Given the description of an element on the screen output the (x, y) to click on. 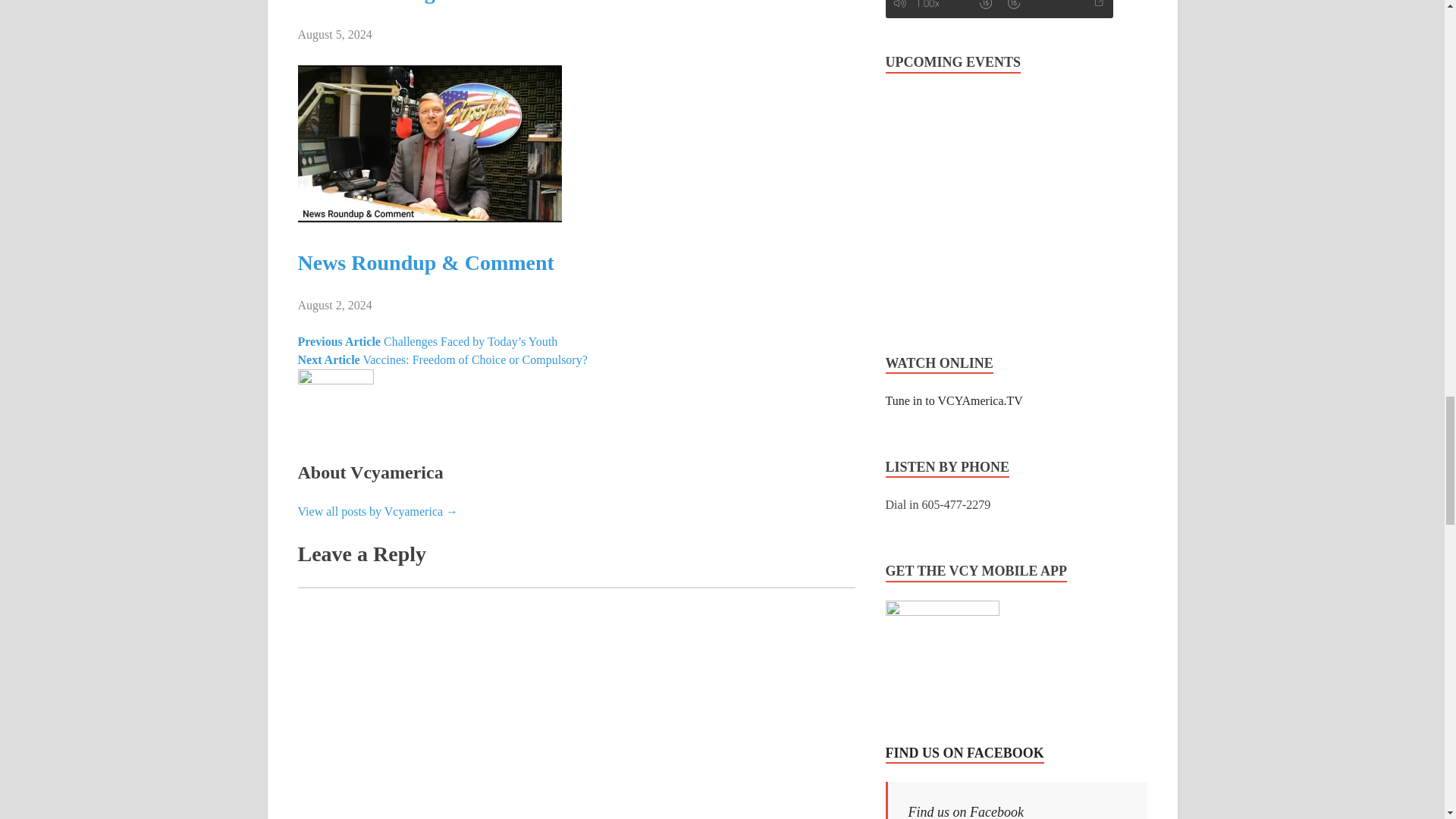
Get the VCY Mobile App (941, 657)
Vcyamerica (377, 511)
Comment Form (575, 703)
